Given the description of an element on the screen output the (x, y) to click on. 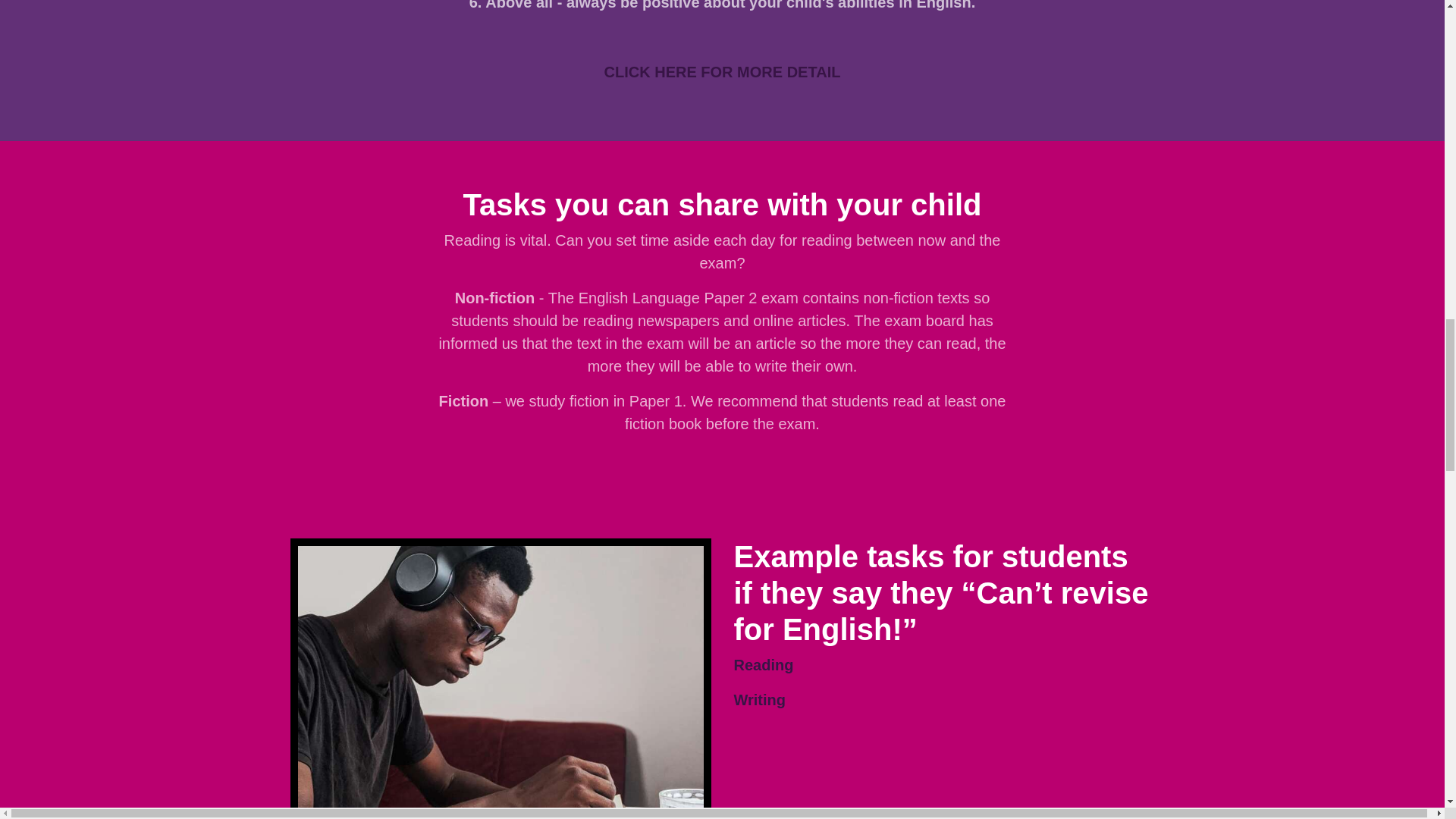
CLICK HERE FOR MORE DETAIL (722, 71)
Writing (759, 699)
Reading (763, 664)
